Given the description of an element on the screen output the (x, y) to click on. 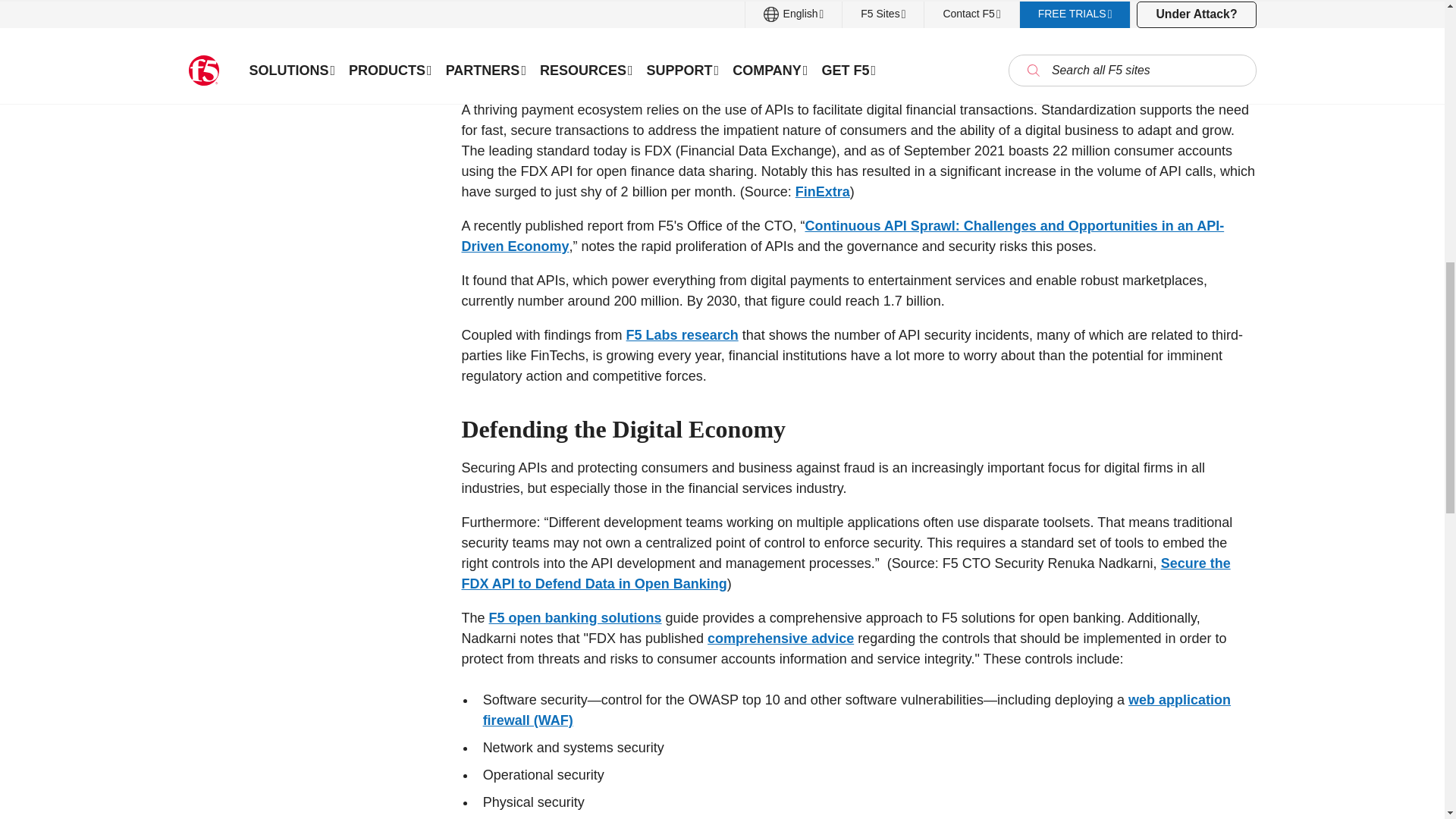
Secure the FDX API to Defend Data in Open Banking (845, 573)
NPD survey from June 2021 (670, 28)
F5 Labs research (682, 335)
FinExtra (822, 191)
comprehensive advice (780, 638)
F5 open banking solutions (575, 617)
